Given the description of an element on the screen output the (x, y) to click on. 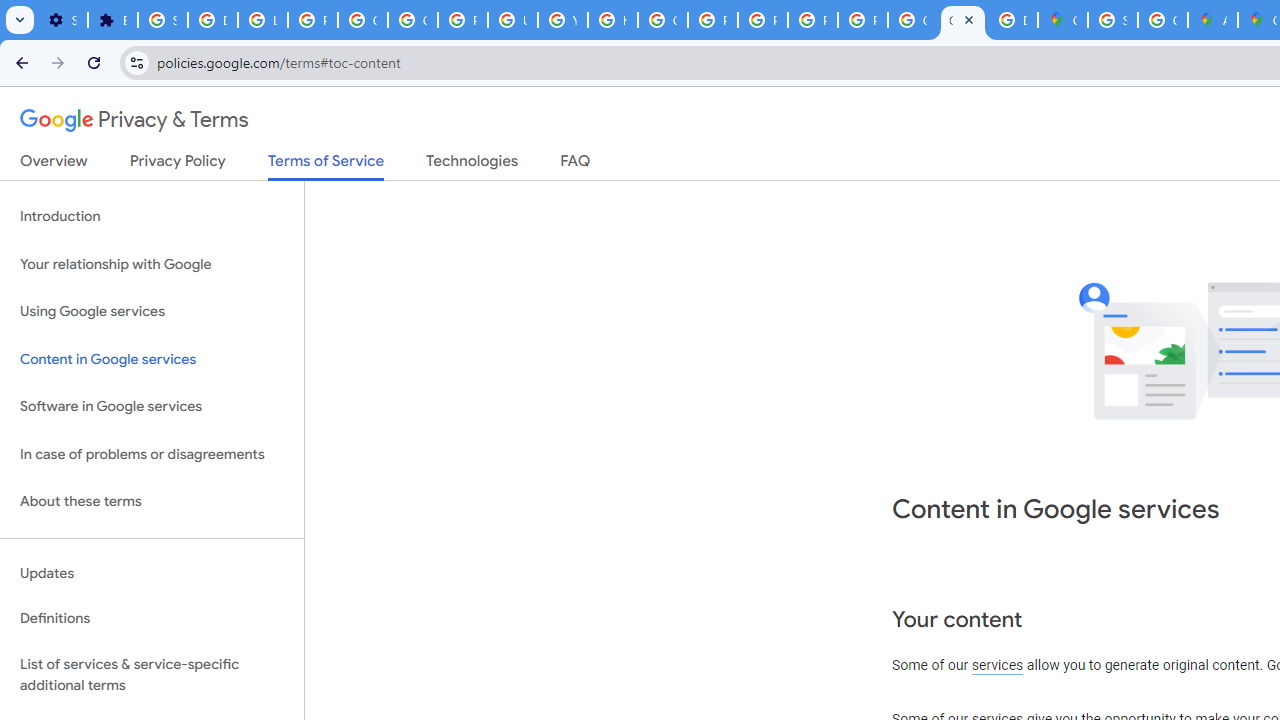
List of services & service-specific additional terms (152, 674)
Content in Google services (152, 358)
Sign in - Google Accounts (163, 20)
Privacy Help Center - Policies Help (712, 20)
Create your Google Account (1162, 20)
